Given the description of an element on the screen output the (x, y) to click on. 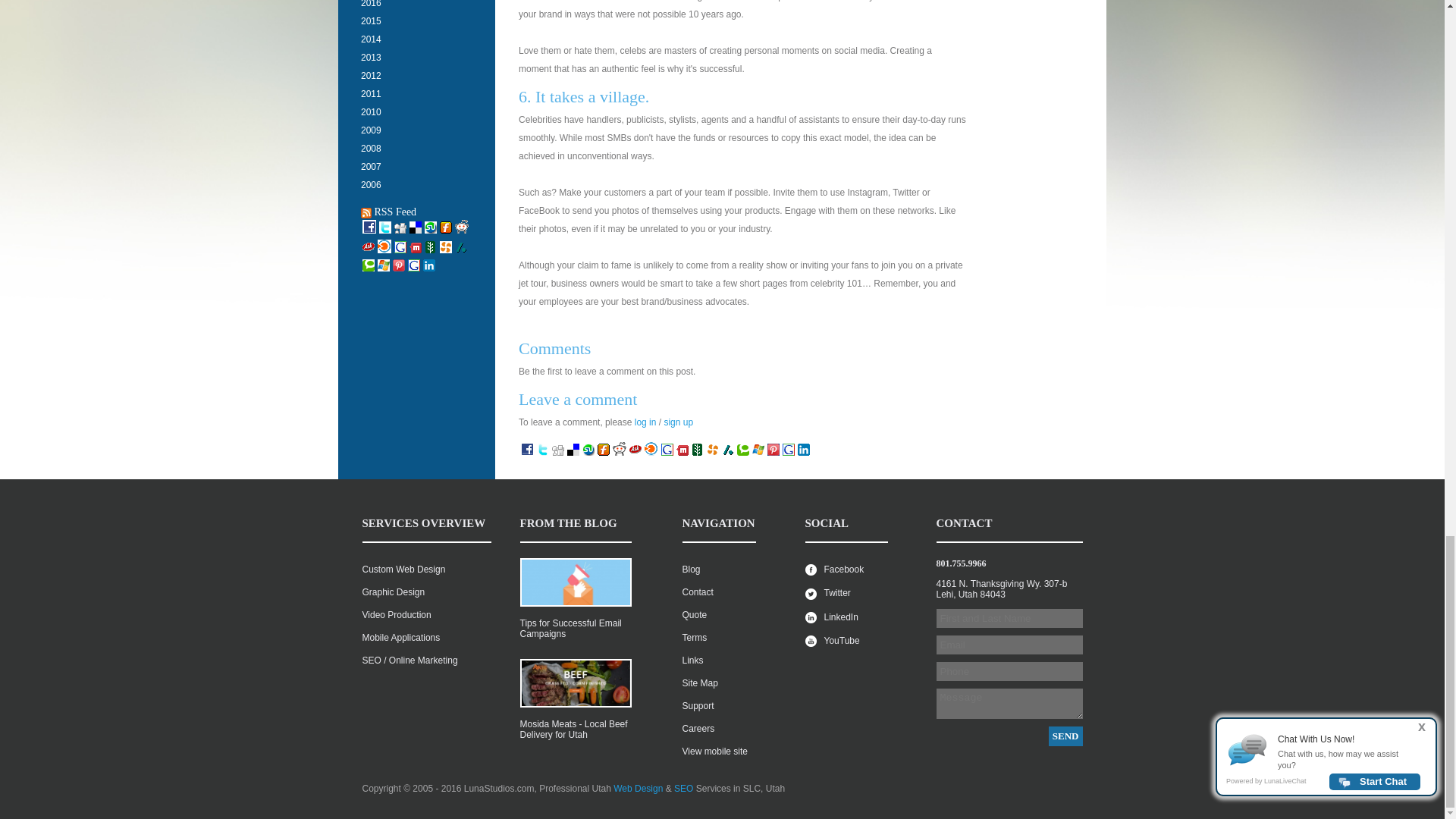
Reddit (619, 453)
Furl (603, 453)
Google (667, 453)
del.icio.us (573, 453)
sign up (678, 421)
Facebook (526, 453)
Mixx (682, 453)
Twitter (542, 453)
BlinkList (651, 453)
log in (645, 421)
